Given the description of an element on the screen output the (x, y) to click on. 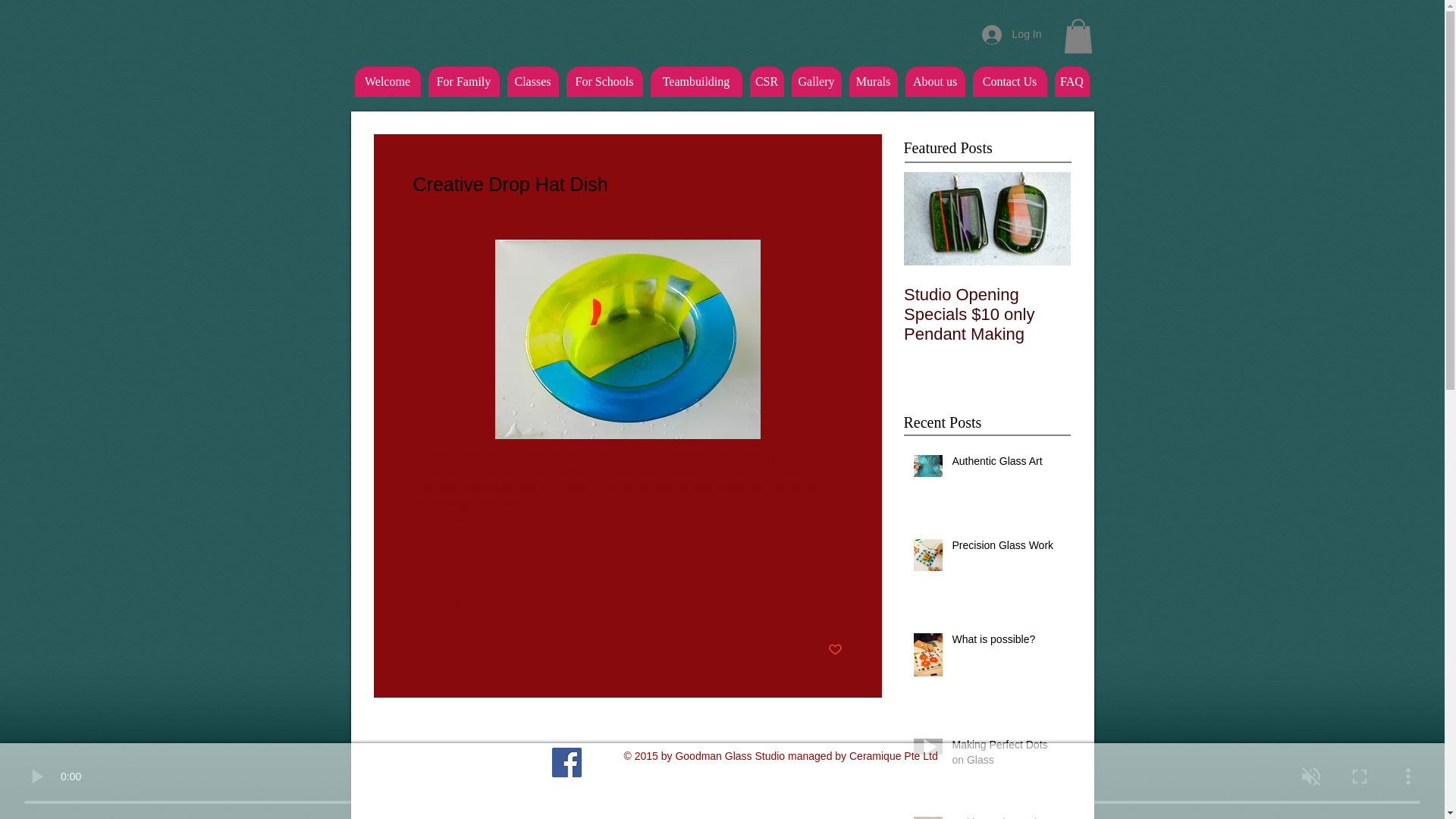
FAQ (1071, 81)
Making Unique Glass Pendants (1006, 817)
For Family (463, 81)
Post not marked as liked (835, 650)
Classes (531, 81)
CSR (766, 81)
Authentic Glass Art (1006, 464)
Contact Us (1009, 81)
Gallery (816, 81)
Teambuilding (696, 81)
